Given the description of an element on the screen output the (x, y) to click on. 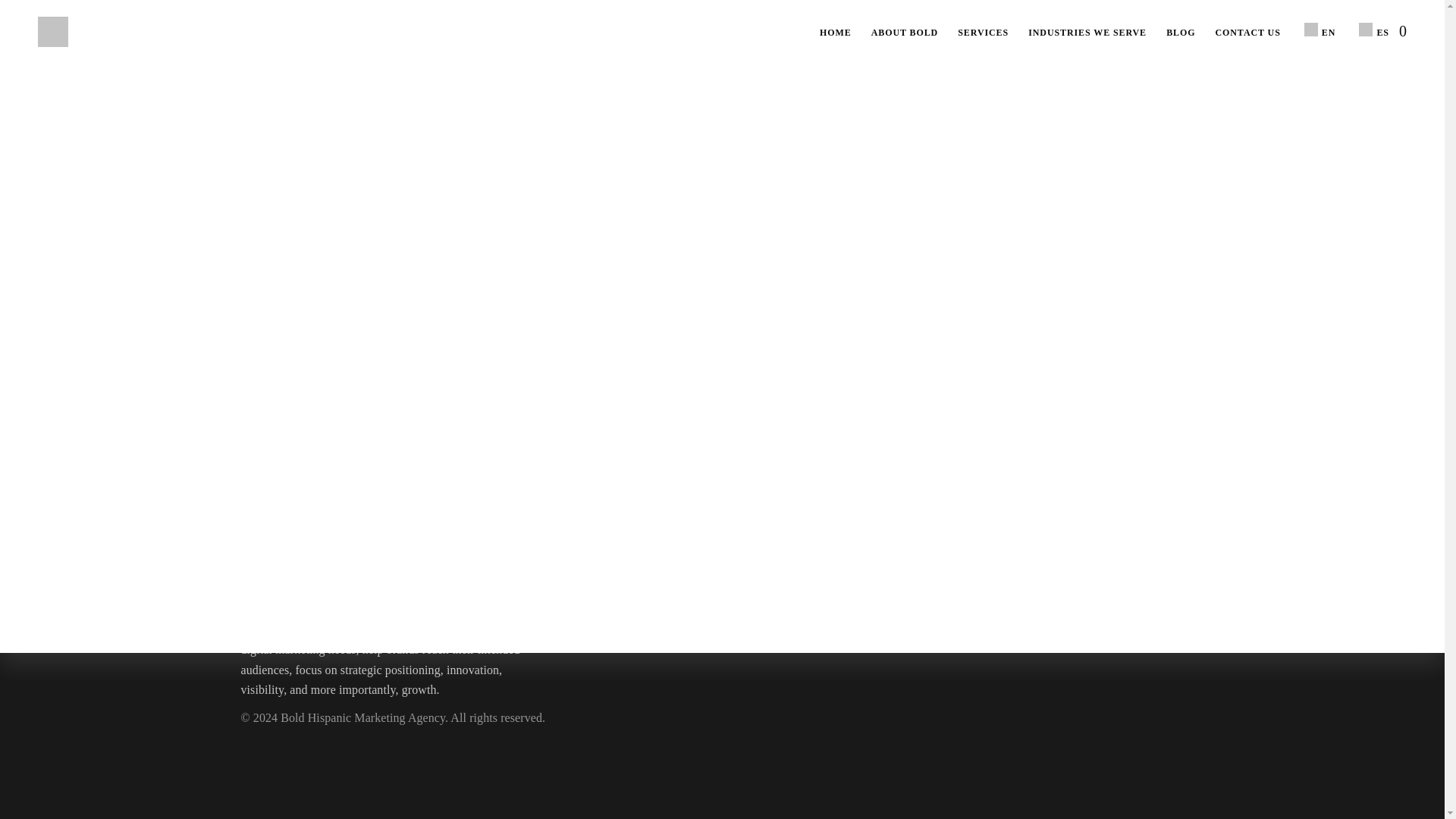
CONTACT US (1247, 32)
INDUSTRIES WE SERVE (1086, 32)
SERVICES (982, 32)
ABOUT BOLD (904, 32)
EN (1317, 30)
English (1310, 29)
Spanish (1365, 29)
